Given the description of an element on the screen output the (x, y) to click on. 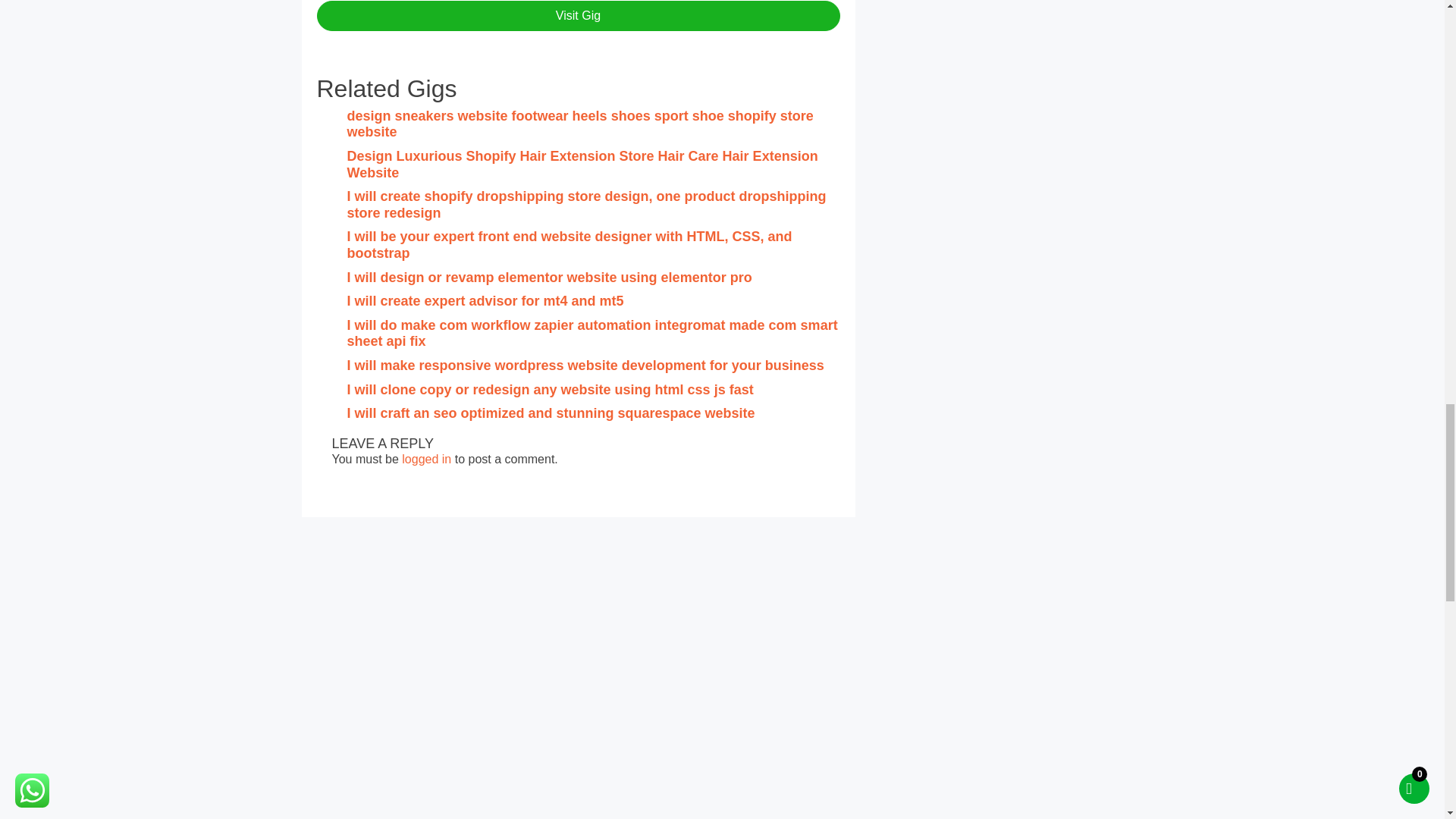
Visit Gig (578, 15)
I will create expert advisor for mt4 and mt5 (485, 300)
